Given the description of an element on the screen output the (x, y) to click on. 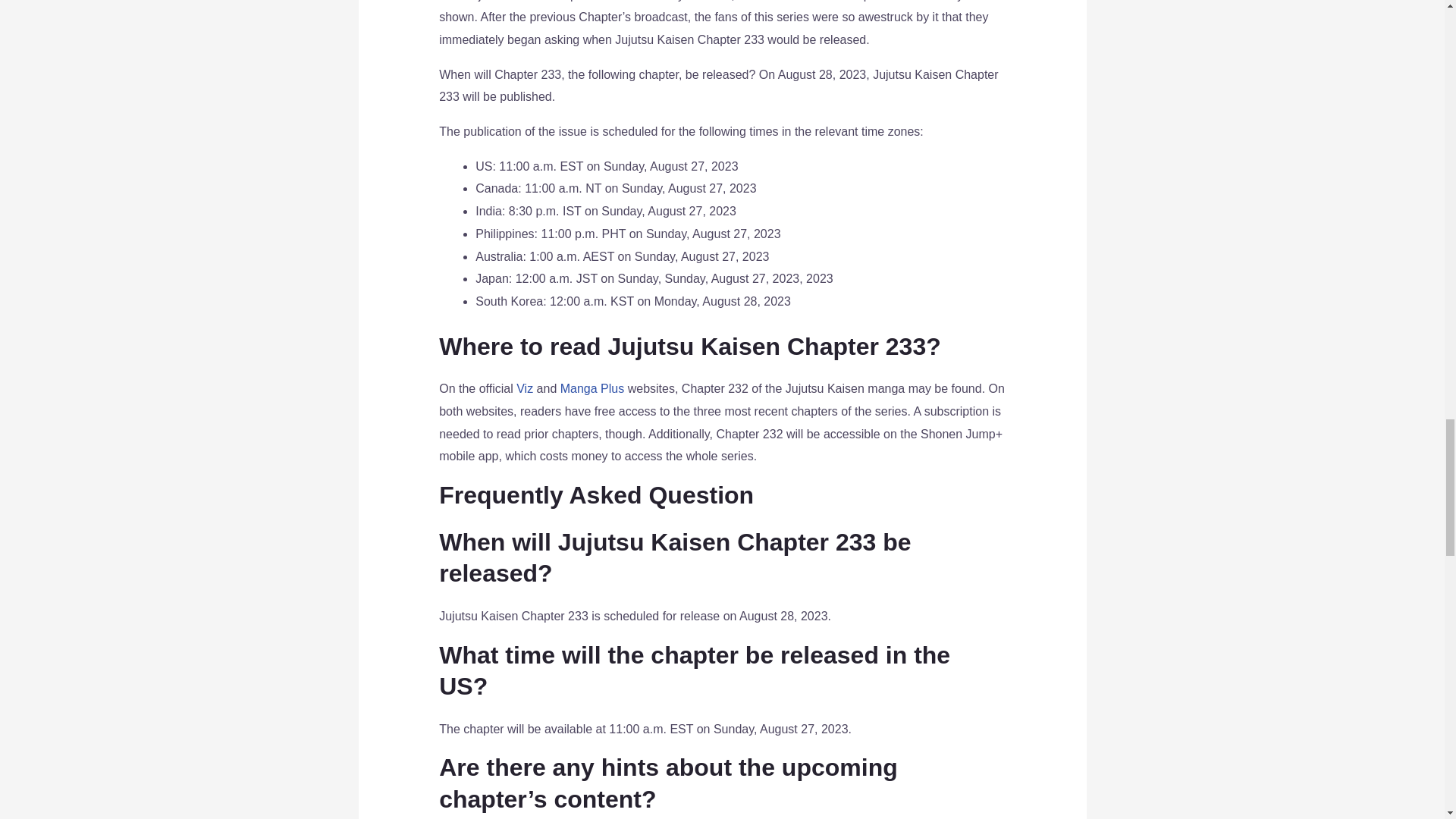
Viz (524, 388)
